Given the description of an element on the screen output the (x, y) to click on. 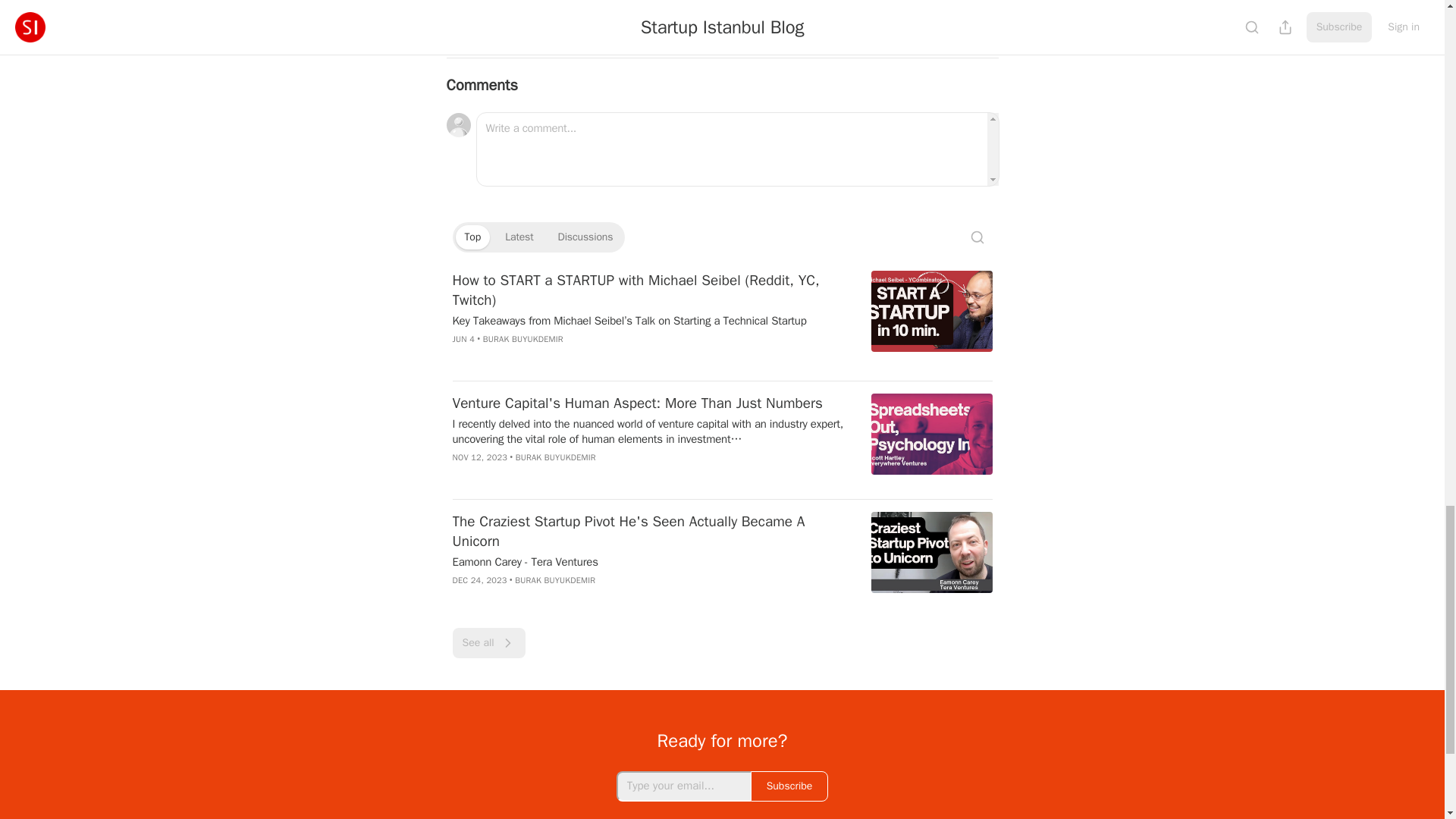
Latest (518, 237)
Discussions (585, 237)
Top (471, 237)
Share (970, 30)
